Given the description of an element on the screen output the (x, y) to click on. 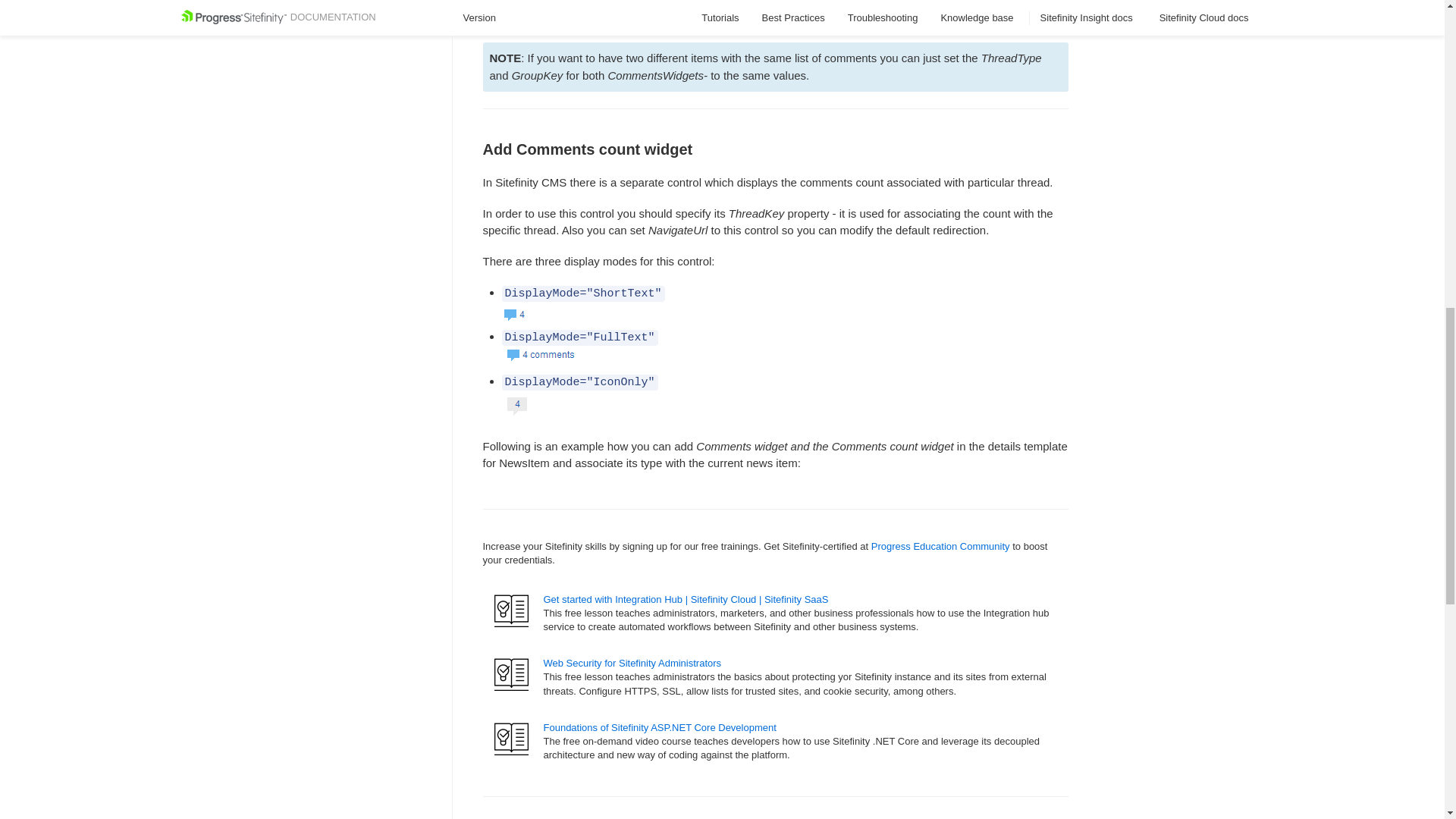
shorttext (515, 312)
fulltext (540, 356)
icononly (521, 406)
